Given the description of an element on the screen output the (x, y) to click on. 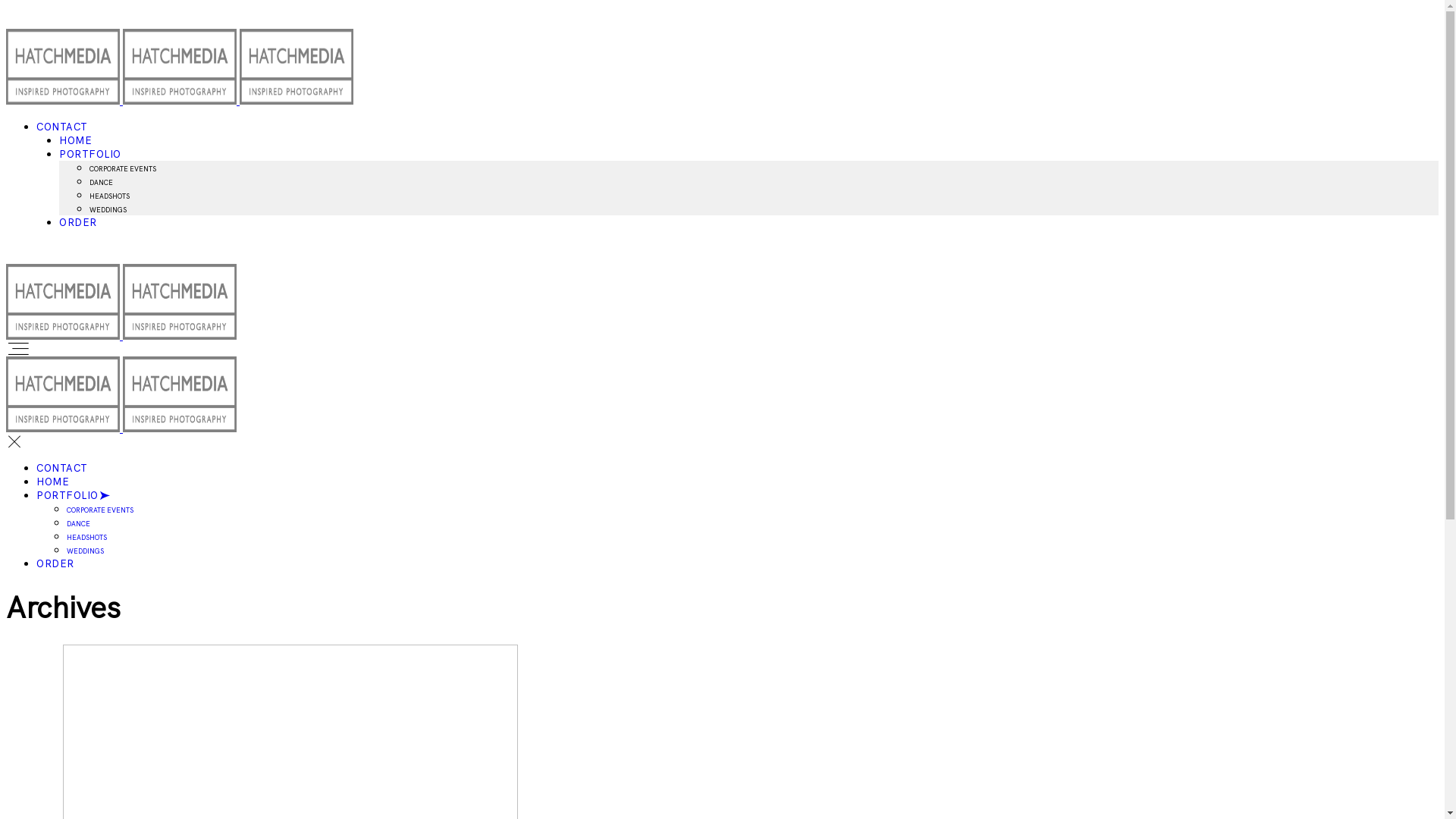
DANCE Element type: text (100, 182)
HEADSHOTS Element type: text (86, 537)
WEDDINGS Element type: text (107, 209)
HEADSHOTS Element type: text (109, 195)
PORTFOLIO Element type: text (90, 153)
CONTACT Element type: text (61, 126)
ORDER Element type: text (55, 563)
WEDDINGS Element type: text (84, 550)
HOME Element type: text (75, 140)
HOME Element type: text (52, 481)
ORDER Element type: text (78, 222)
CORPORATE EVENTS Element type: text (99, 509)
CORPORATE EVENTS Element type: text (122, 168)
DANCE Element type: text (78, 523)
PORTFOLIO Element type: text (74, 495)
CONTACT Element type: text (61, 467)
